Given the description of an element on the screen output the (x, y) to click on. 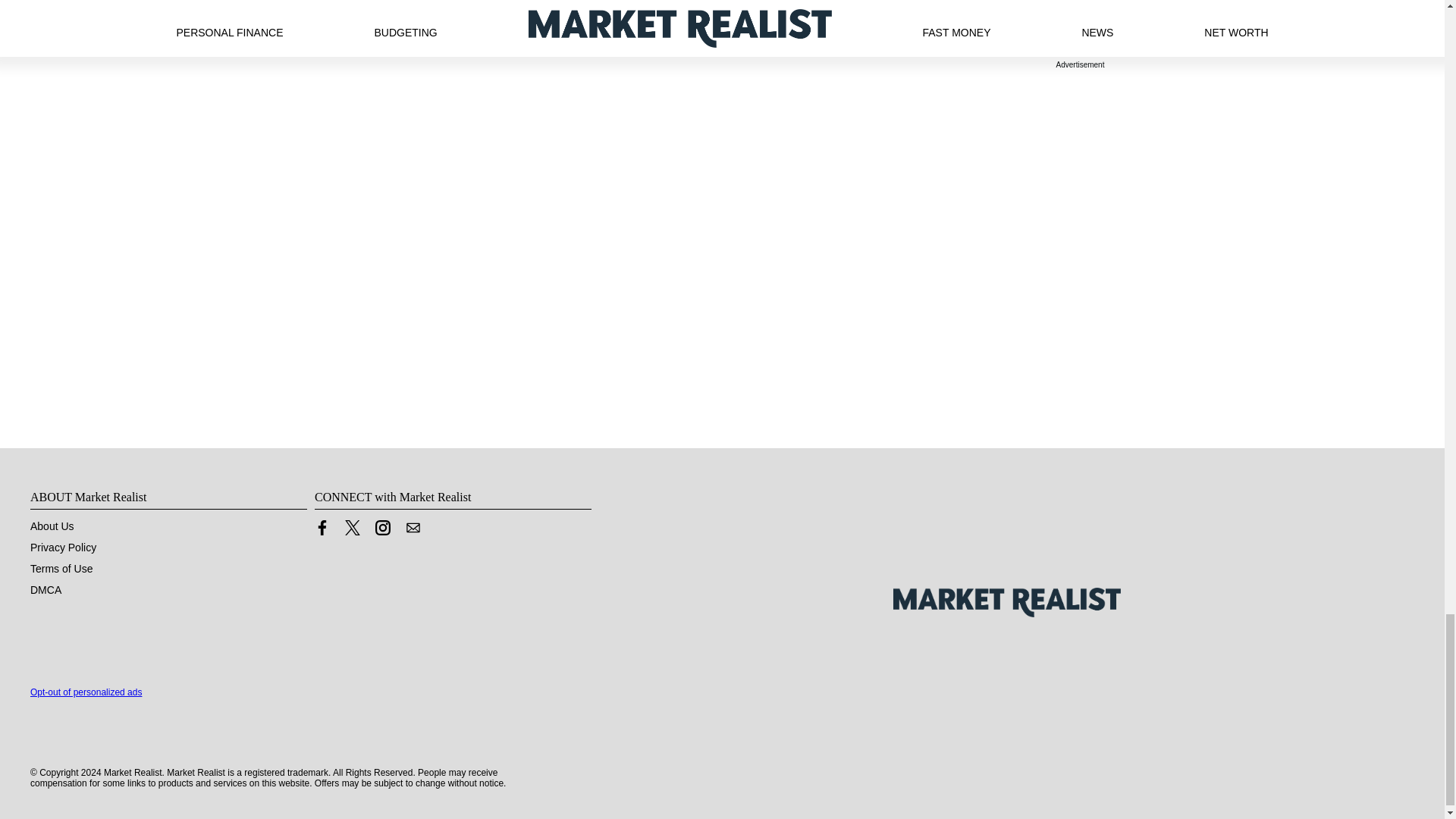
About Us (52, 526)
Link to Instagram (382, 531)
Privacy Policy (63, 547)
DMCA (45, 589)
Link to Facebook (322, 531)
Link to Instagram (382, 527)
Terms of Use (61, 568)
Contact us by Email (413, 527)
About Us (52, 526)
DMCA (45, 589)
Link to X (352, 531)
Link to X (352, 527)
Contact us by Email (413, 531)
Privacy Policy (63, 547)
Link to Facebook (322, 527)
